Given the description of an element on the screen output the (x, y) to click on. 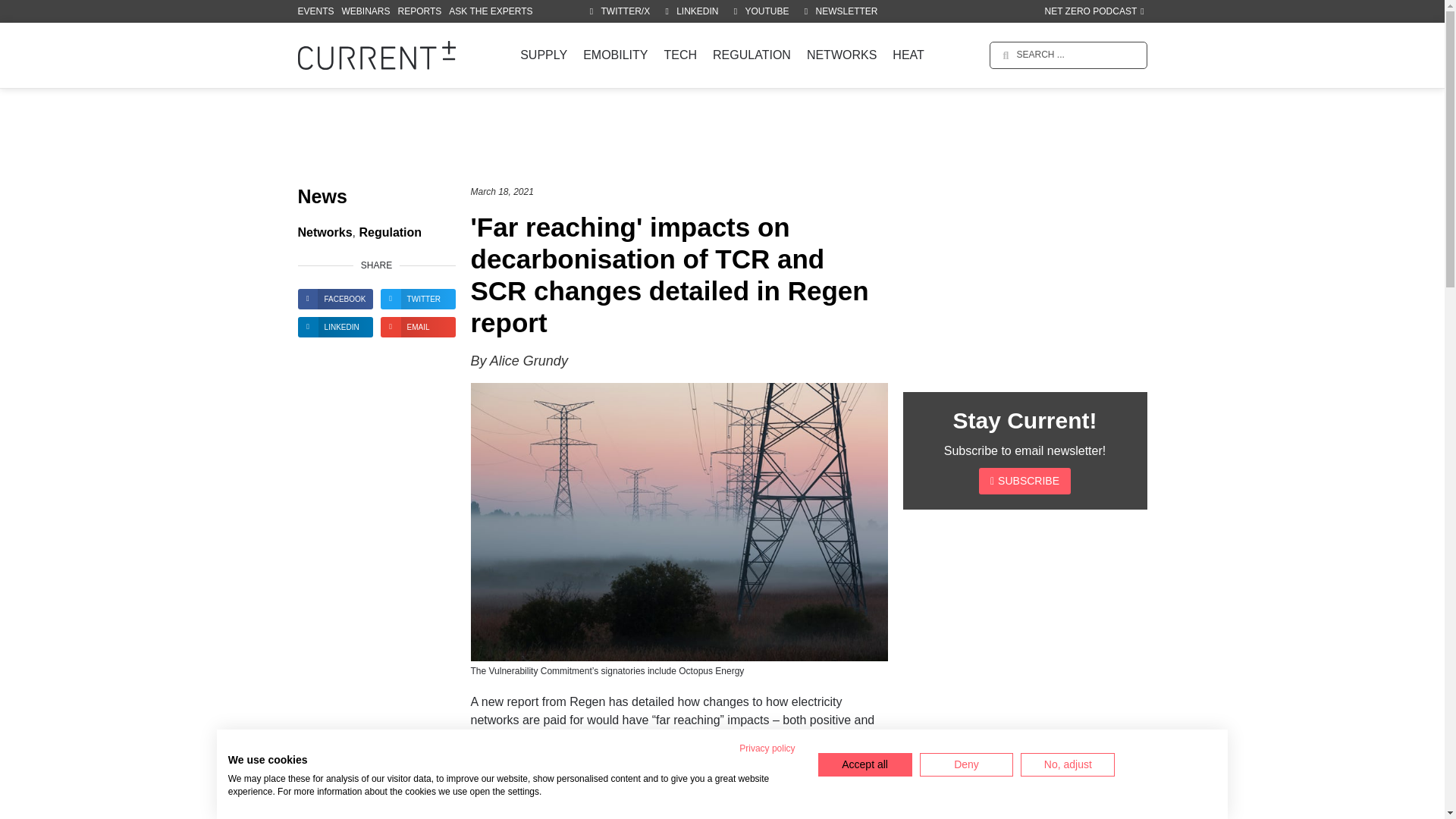
Help widget launcher (1379, 792)
3rd party ad content (1024, 281)
EVENTS (315, 11)
YOUTUBE (759, 11)
WEBINARS (366, 11)
TECH (680, 54)
NEWSLETTER (838, 11)
REPORTS (419, 11)
NET ZERO PODCAST (1092, 11)
News (321, 196)
Networks (324, 232)
Regulation (390, 232)
3rd party ad content (721, 137)
ASK THE EXPERTS (490, 11)
REGULATION (750, 54)
